Given the description of an element on the screen output the (x, y) to click on. 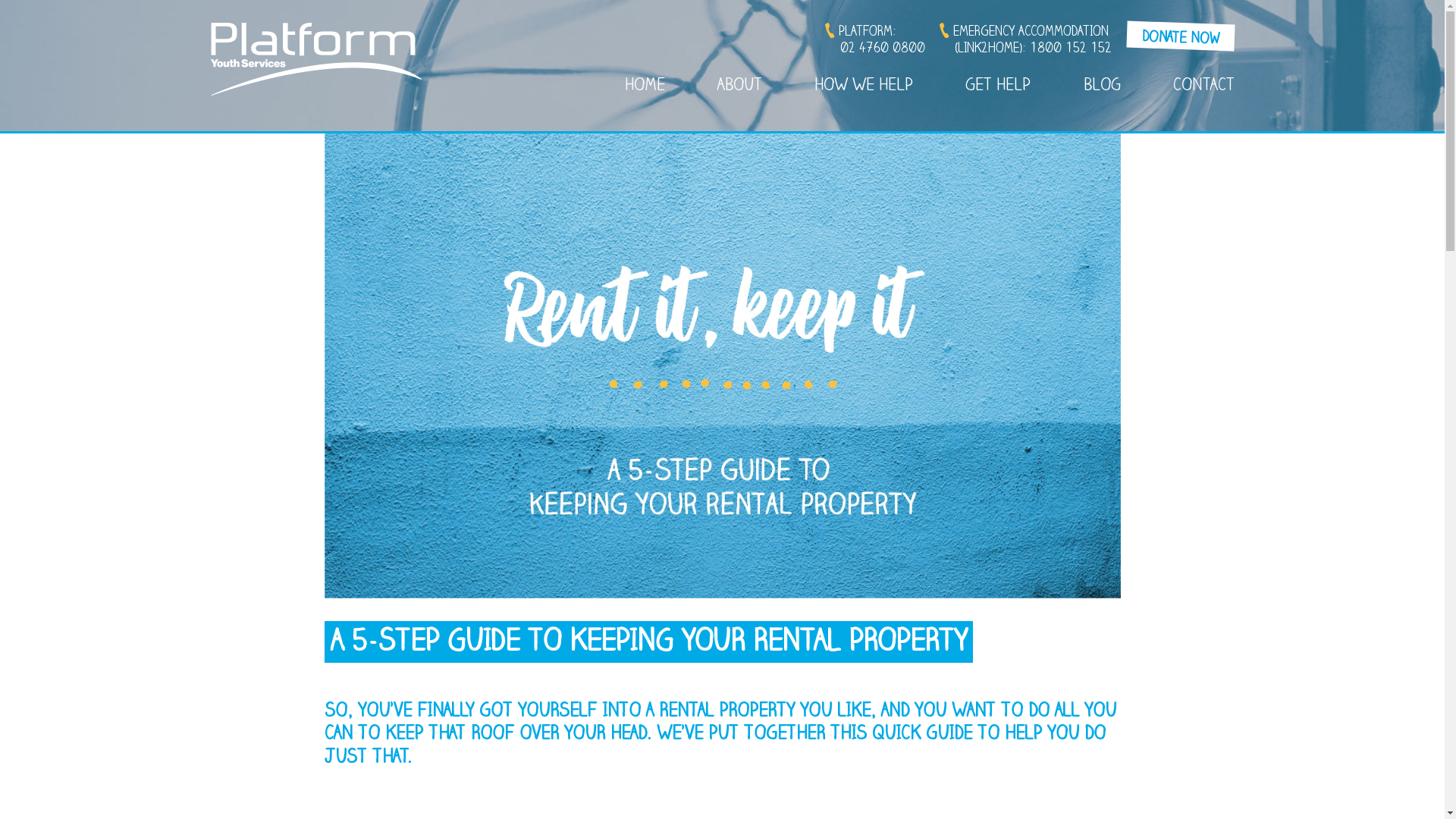
BLOG Element type: text (1101, 86)
02 4760 0800 Element type: text (882, 48)
HOME Element type: text (644, 86)
ABOUT Element type: text (739, 86)
HOW WE HELP Element type: text (863, 86)
1800 152 152 Element type: text (1070, 48)
GET HELP Element type: text (997, 86)
CONTACT Element type: text (1203, 86)
